Given the description of an element on the screen output the (x, y) to click on. 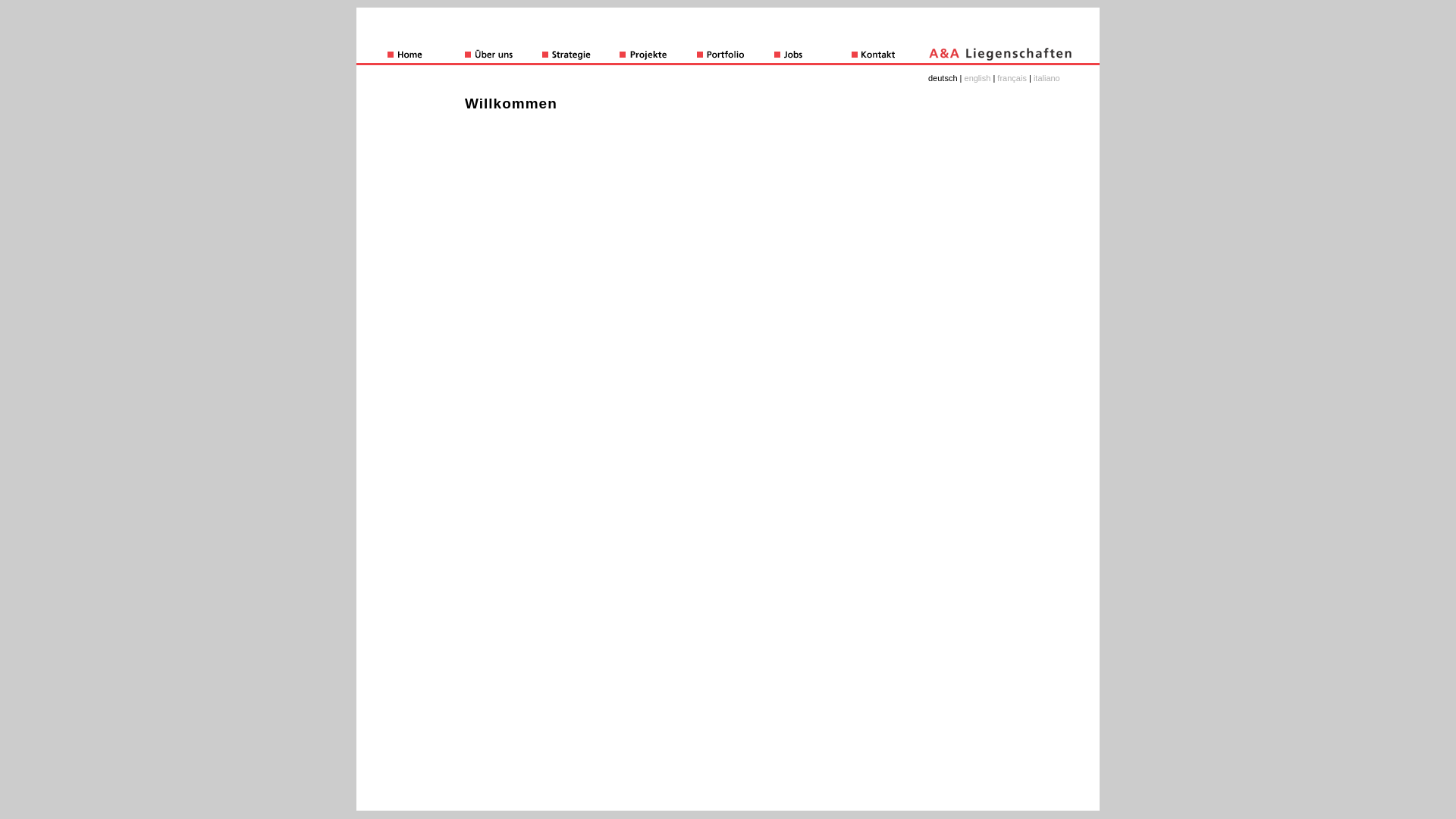
english Element type: text (977, 77)
Strategie Element type: hover (580, 54)
Kontakt Element type: hover (889, 54)
italiano Element type: text (1046, 77)
Home Element type: hover (425, 54)
A&A Liegenschaften Element type: hover (1000, 54)
Portfolio Element type: hover (735, 54)
Projekte Element type: hover (657, 54)
Jobs Element type: hover (812, 54)
